Given the description of an element on the screen output the (x, y) to click on. 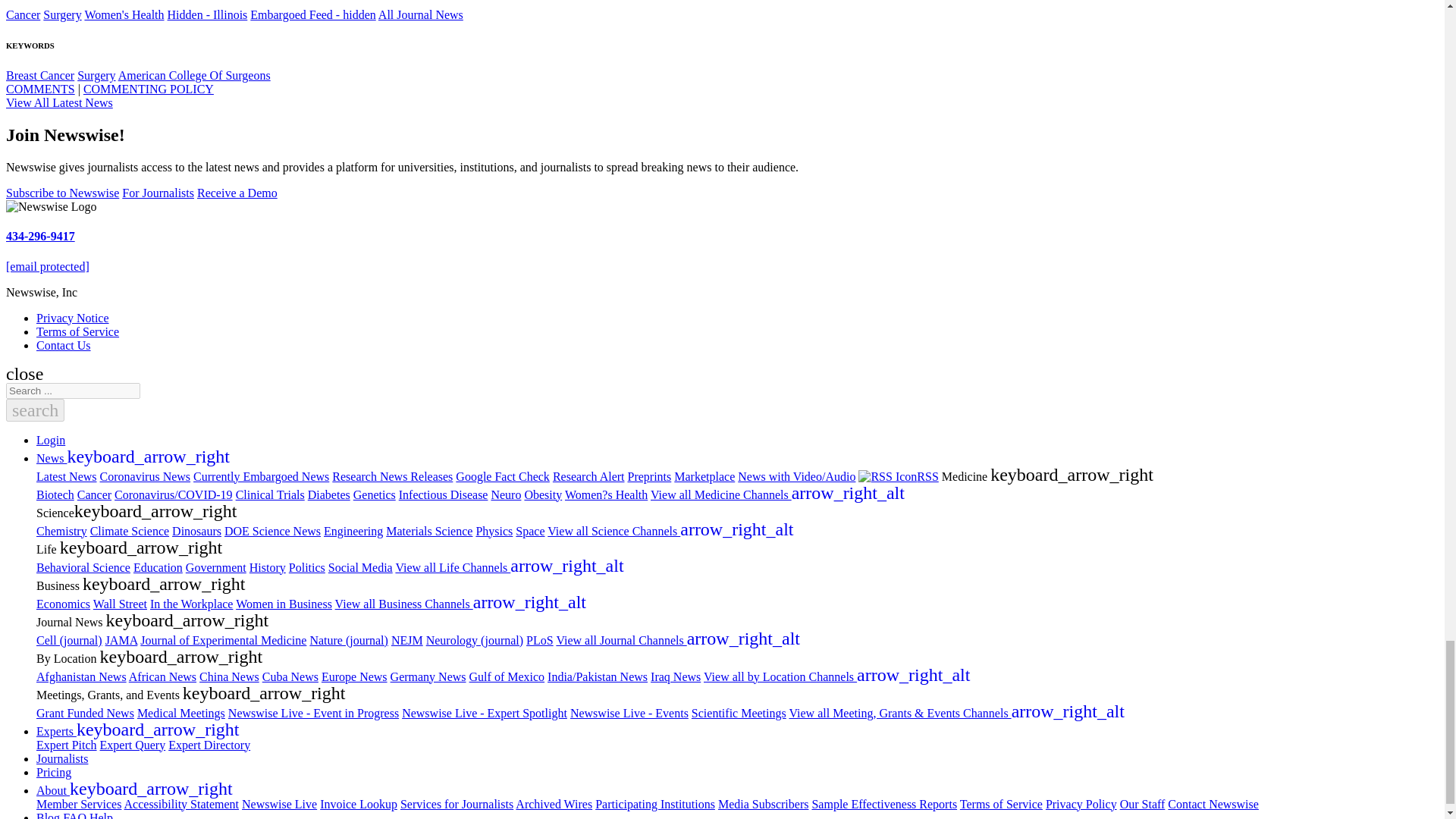
Show all articles in this channel (123, 14)
Show all articles in this channel (22, 14)
Show all articles in this channel (62, 14)
